Given the description of an element on the screen output the (x, y) to click on. 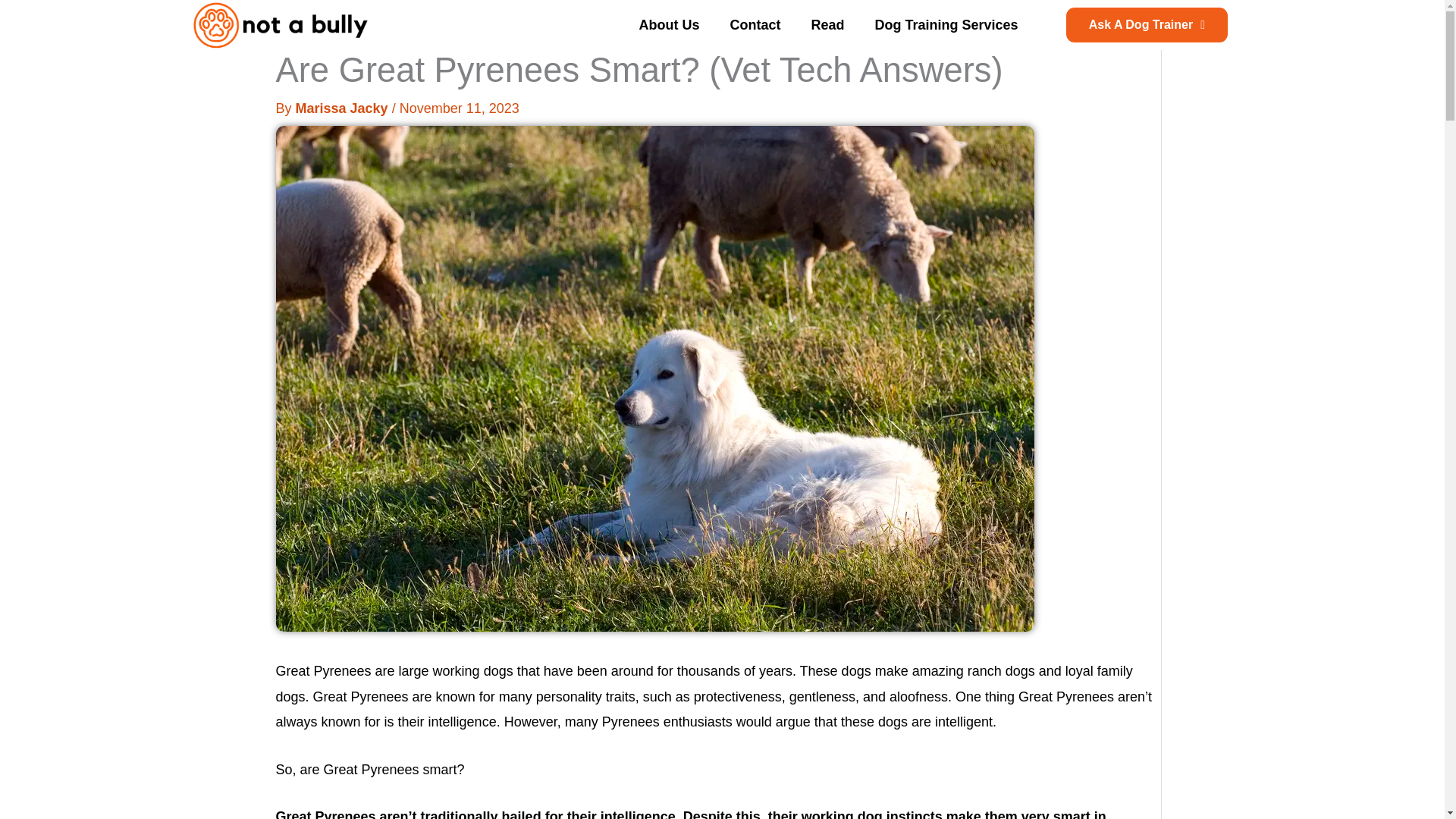
Dog Training Services (945, 24)
Read (826, 24)
Ask A Dog Trainer (1146, 24)
About Us (668, 24)
Marissa Jacky (343, 108)
View all posts by Marissa Jacky (343, 108)
Contact (754, 24)
